Given the description of an element on the screen output the (x, y) to click on. 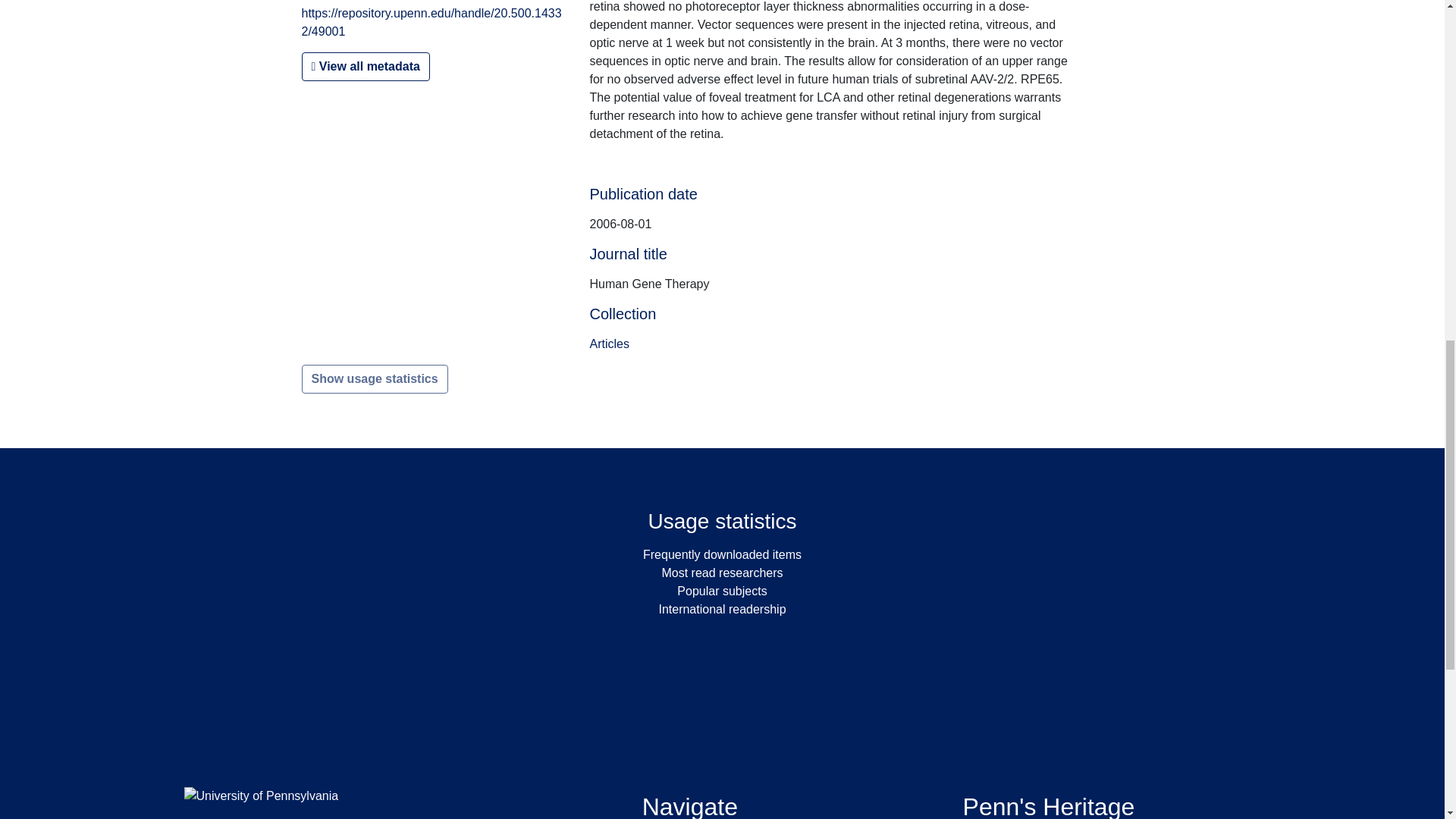
Articles (608, 343)
International readership (722, 608)
Frequently downloaded items (722, 554)
Frequently downloaded items (722, 554)
Show usage statistics (374, 378)
Popular subjects (722, 590)
Most read researchers (722, 572)
Most read researchers (722, 572)
View all metadata (365, 66)
International readership (722, 608)
Popular subjects (722, 590)
